Given the description of an element on the screen output the (x, y) to click on. 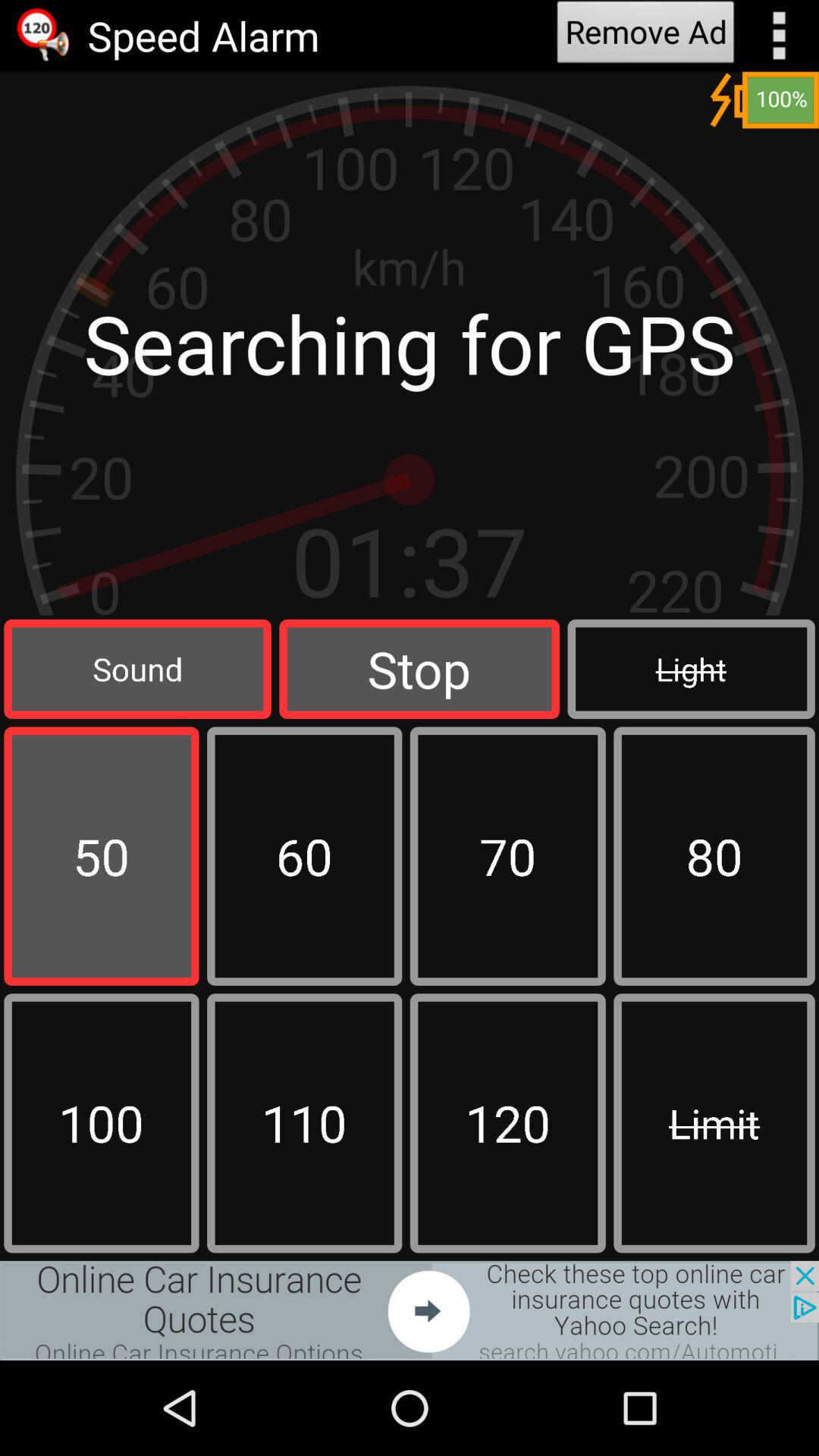
show options (779, 35)
